Given the description of an element on the screen output the (x, y) to click on. 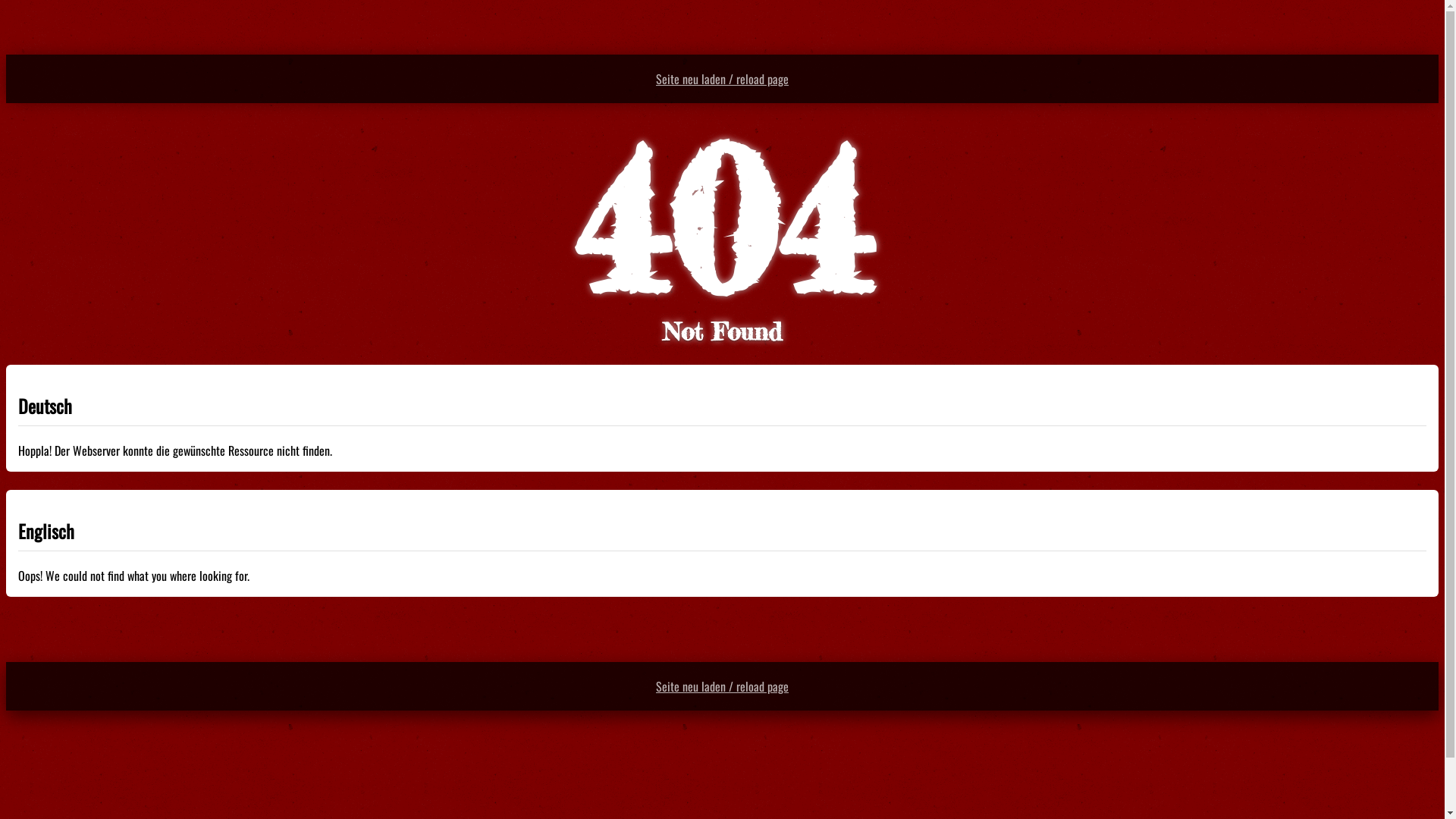
Seite neu laden / reload page Element type: text (721, 686)
Seite neu laden / reload page Element type: text (721, 78)
